Given the description of an element on the screen output the (x, y) to click on. 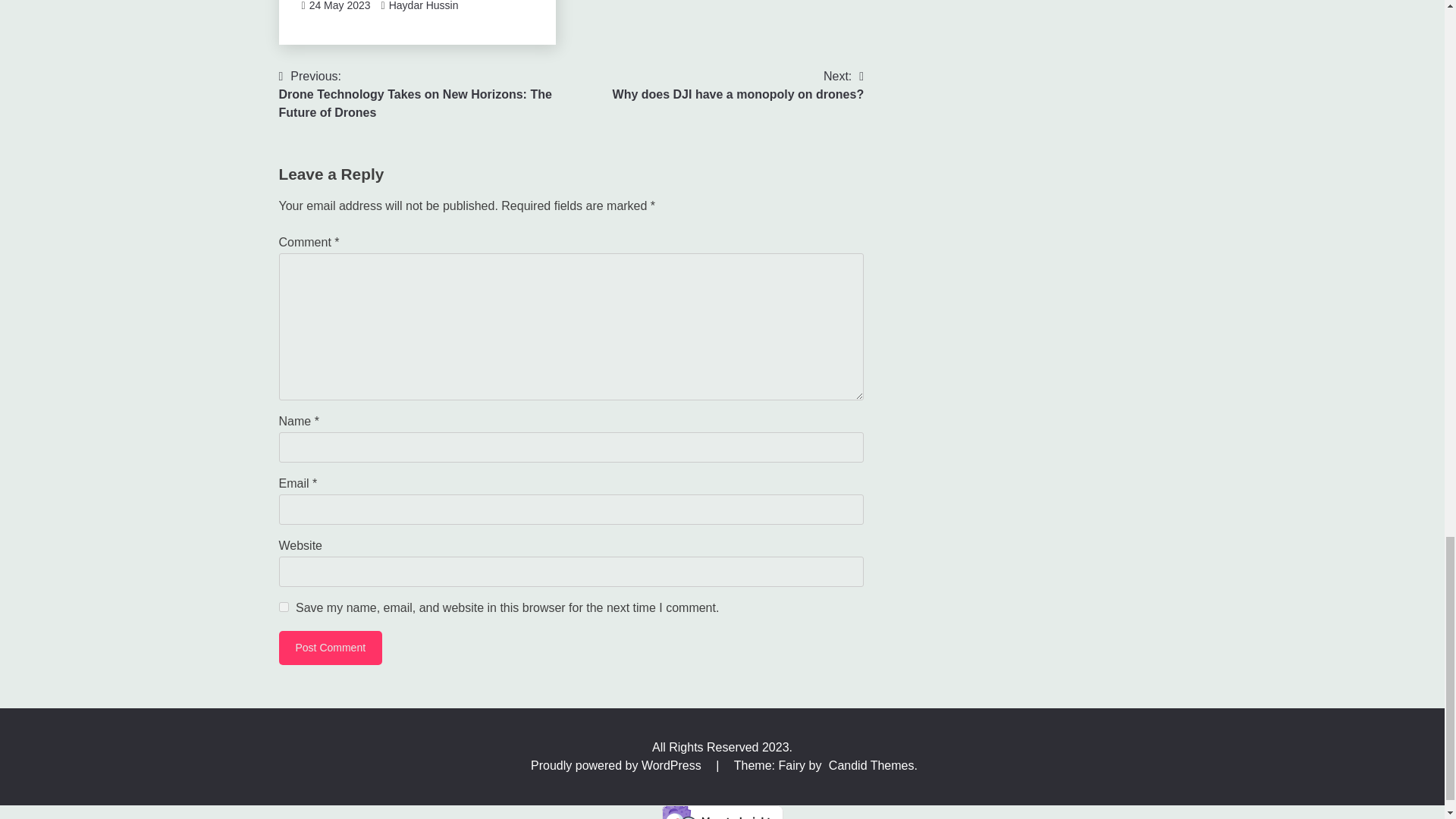
Post Comment (330, 647)
Verified by MonsterInsights (722, 812)
24 May 2023 (339, 5)
yes (283, 606)
Haydar Hussin (423, 5)
Post Comment (330, 647)
